Given the description of an element on the screen output the (x, y) to click on. 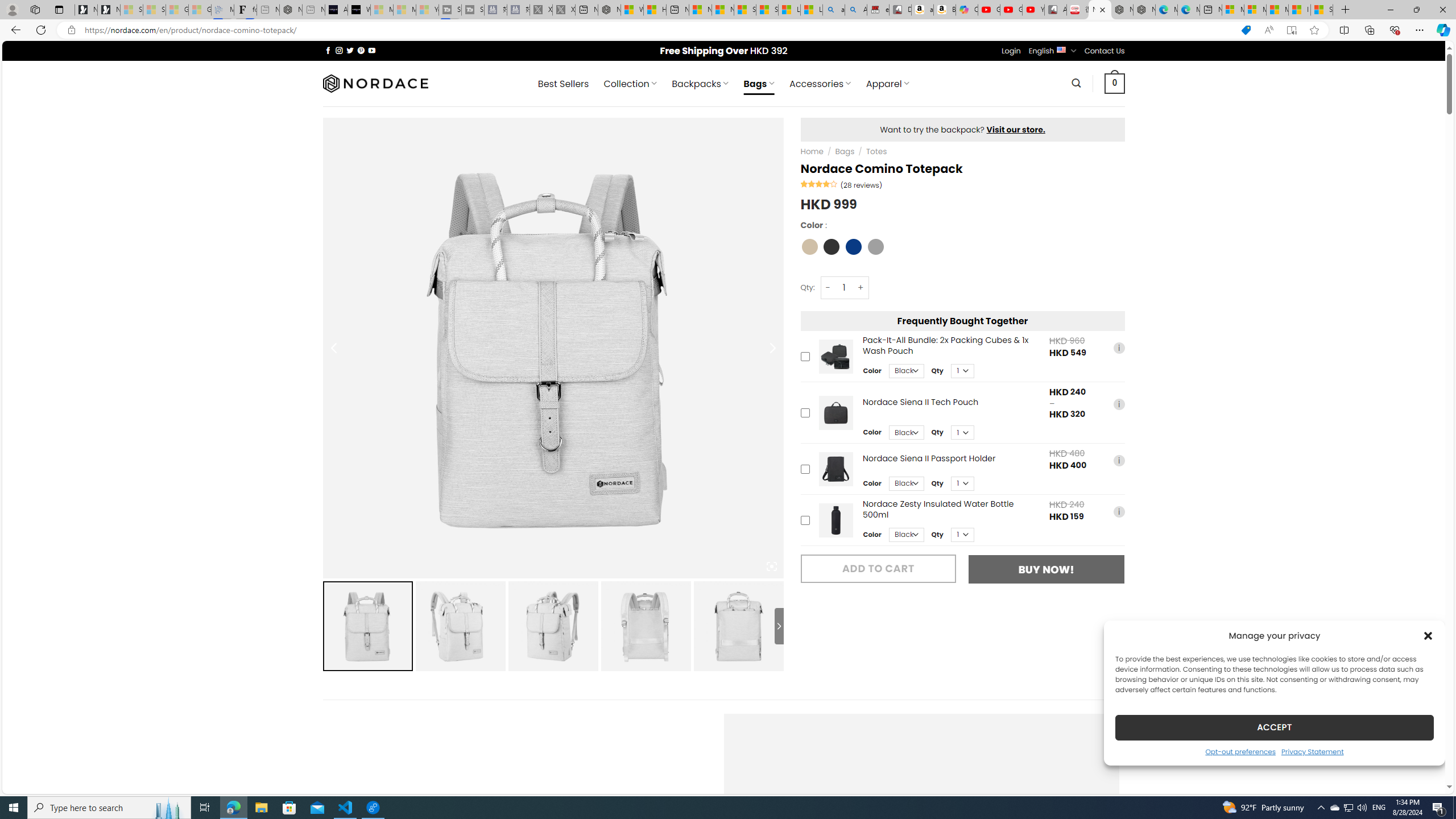
Contact Us (1104, 50)
App bar (728, 29)
Microsoft Start Sports - Sleeping (381, 9)
ADD TO CART (878, 568)
Visit our store. (1015, 129)
Class: cmplz-close (1428, 635)
Contact Us (1104, 50)
Gloom - YouTube (1010, 9)
Class: upsell-v2-product-upsell-variable-product-qty-select (962, 534)
amazon - Search (834, 9)
